Given the description of an element on the screen output the (x, y) to click on. 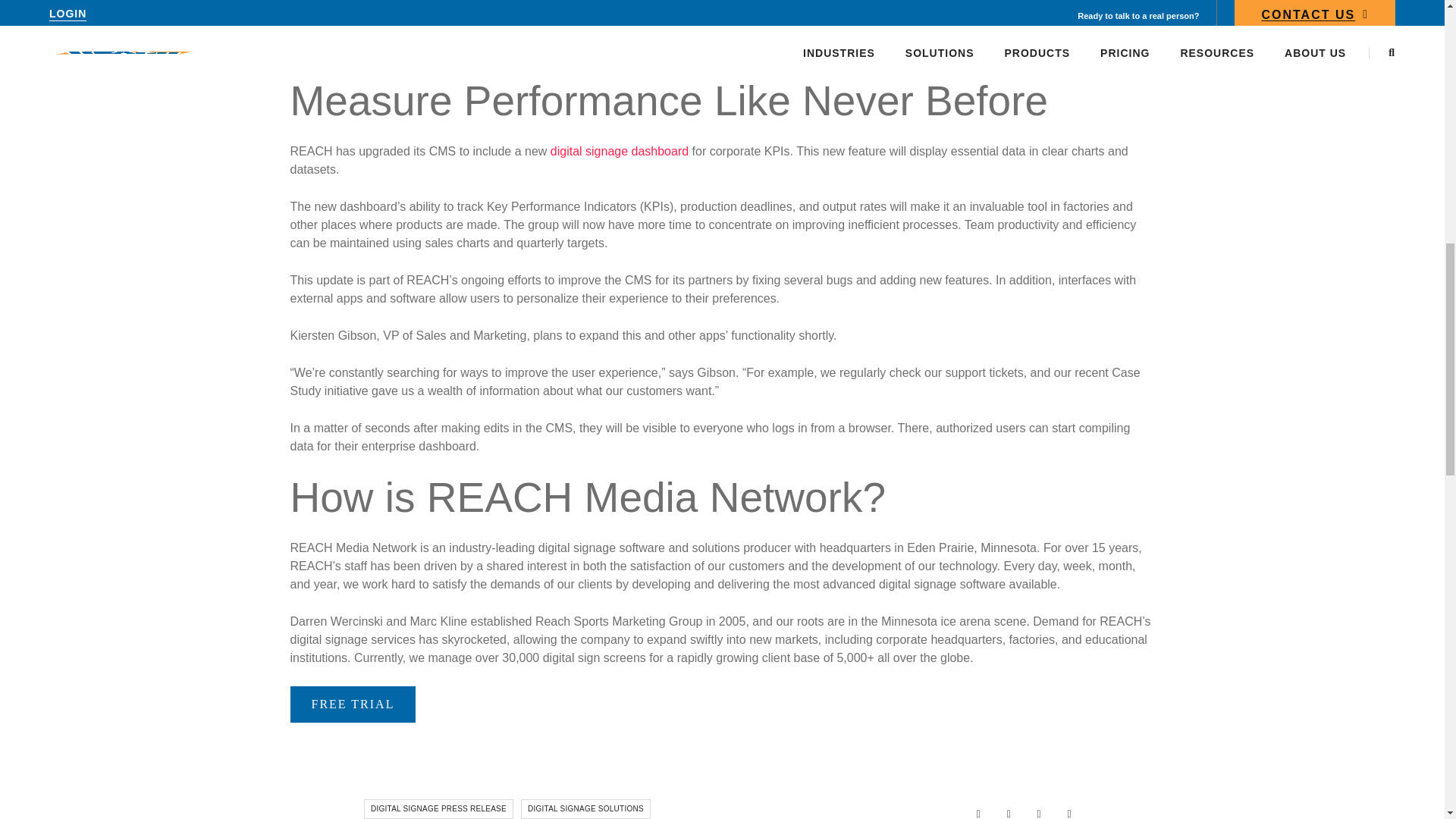
KPI Dashboard digital signage - REACH Media Network (721, 22)
